Given the description of an element on the screen output the (x, y) to click on. 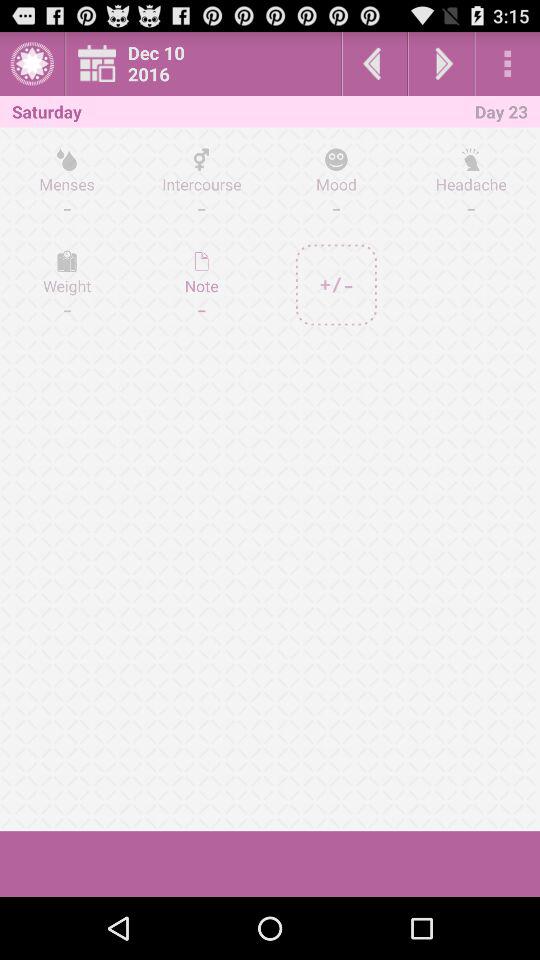
open icon to the left of intercourse
_ icon (67, 183)
